Given the description of an element on the screen output the (x, y) to click on. 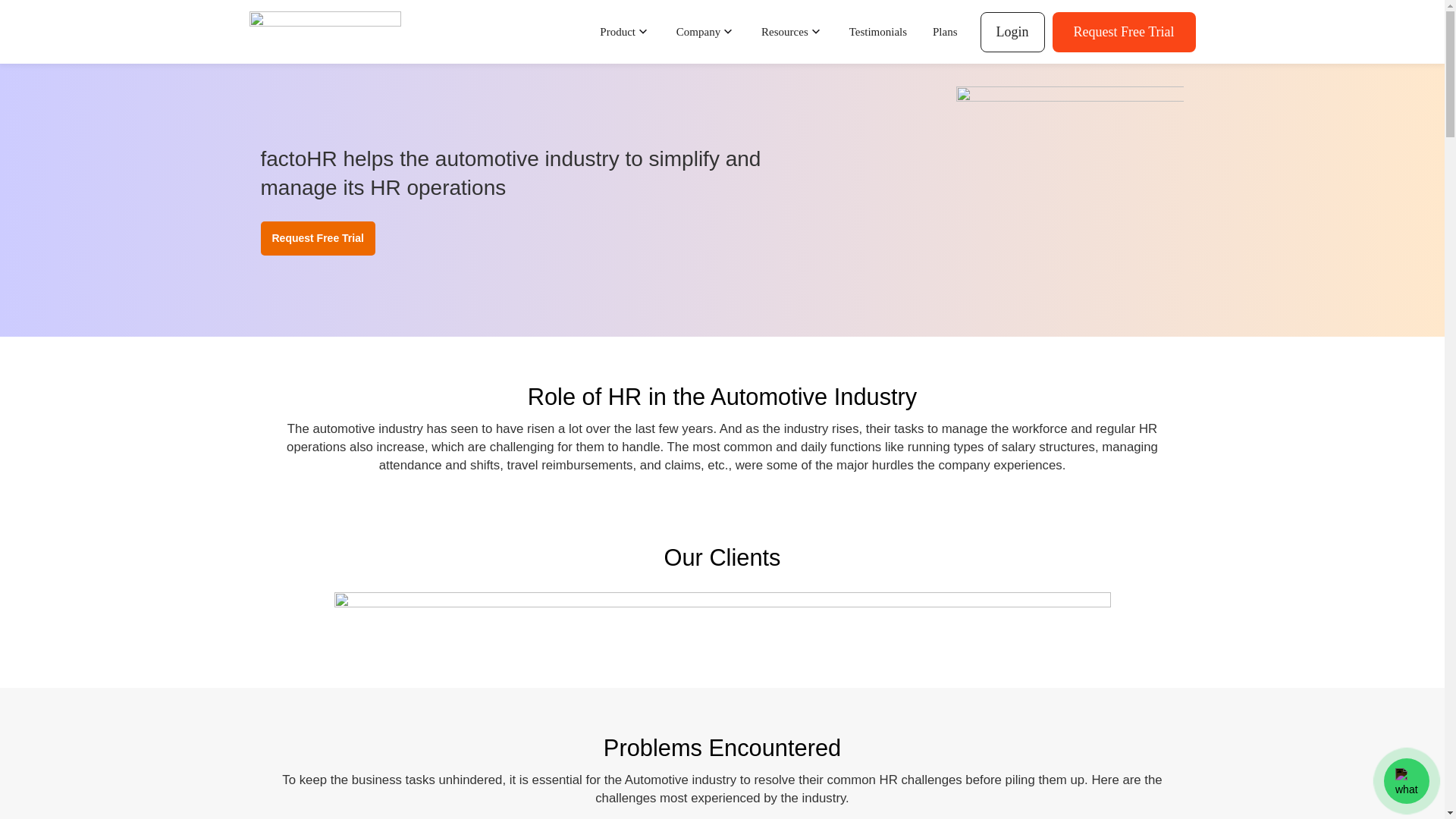
Company (706, 31)
Product (624, 31)
Resources (792, 31)
